Given the description of an element on the screen output the (x, y) to click on. 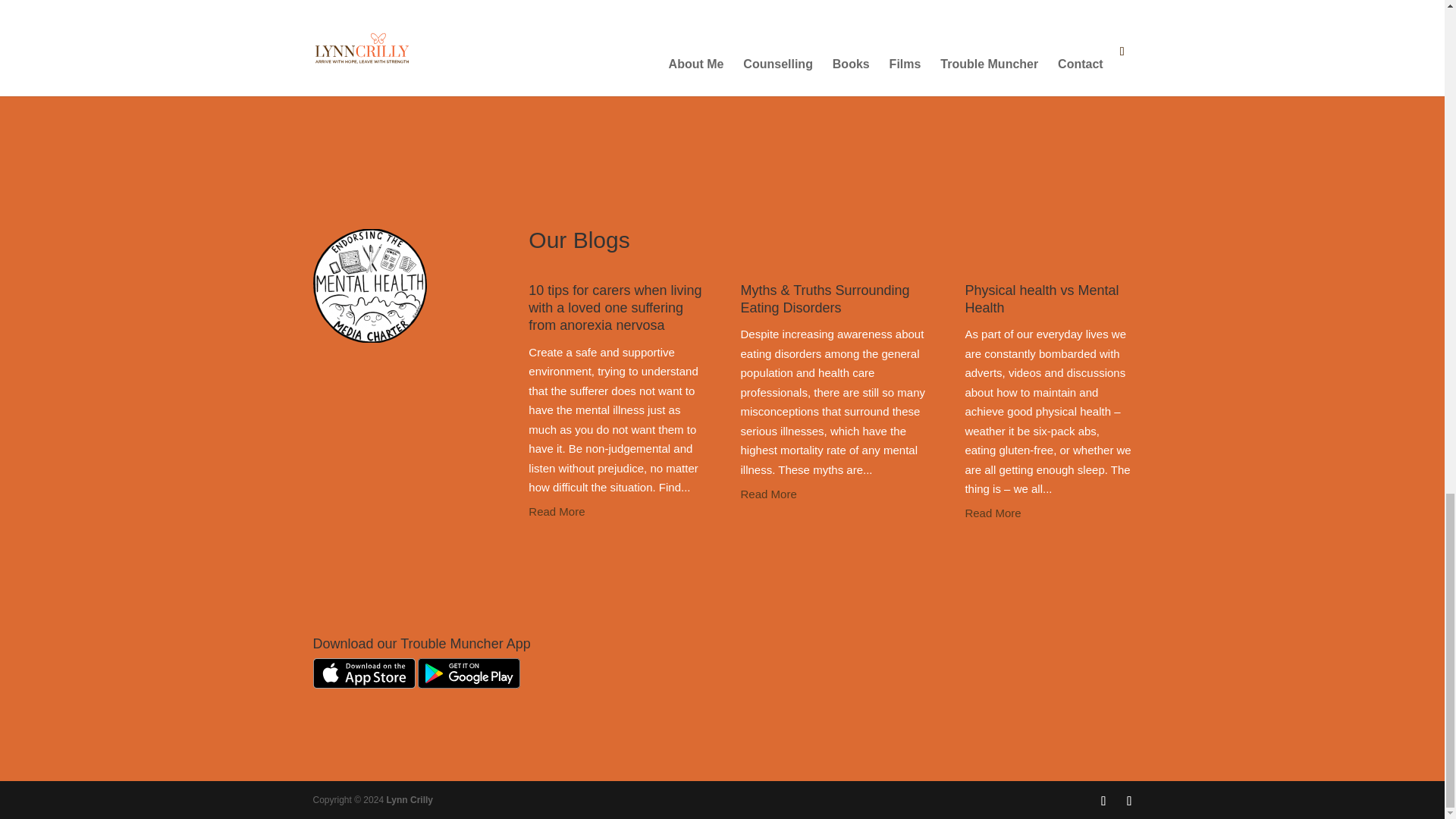
Read More (1047, 513)
Physical health vs Mental Health (1040, 298)
Lynn Crilly (408, 799)
Read More (834, 494)
Read More (614, 511)
